Given the description of an element on the screen output the (x, y) to click on. 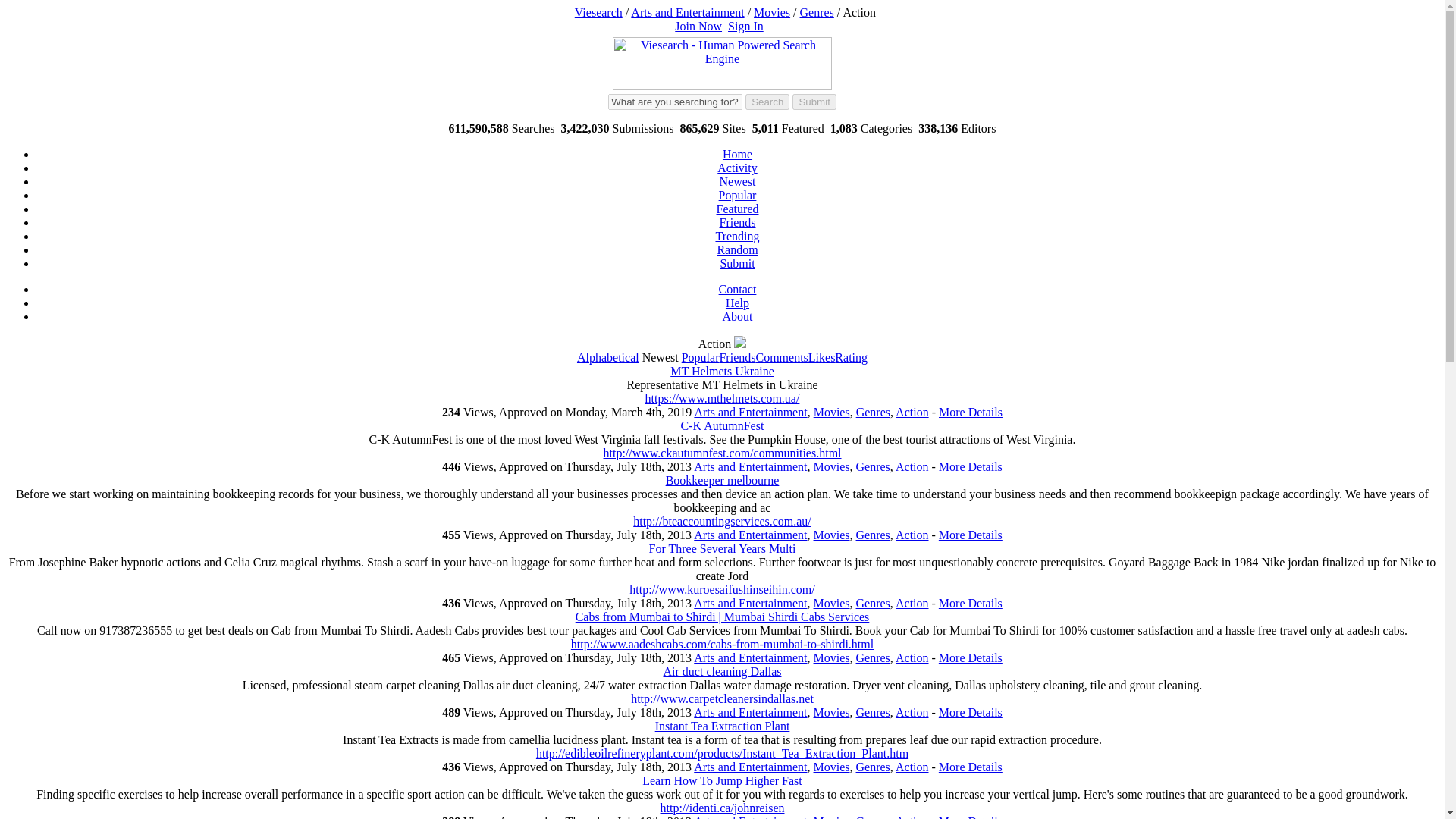
The top 50 longest featured sites in Viesearch (737, 208)
Likes (821, 357)
C-K AutumnFest (722, 425)
Search (767, 101)
Submit (813, 101)
Action (911, 411)
Create a Username (698, 25)
Submit a new site (736, 263)
More Details (971, 411)
View a random site (736, 249)
